Given the description of an element on the screen output the (x, y) to click on. 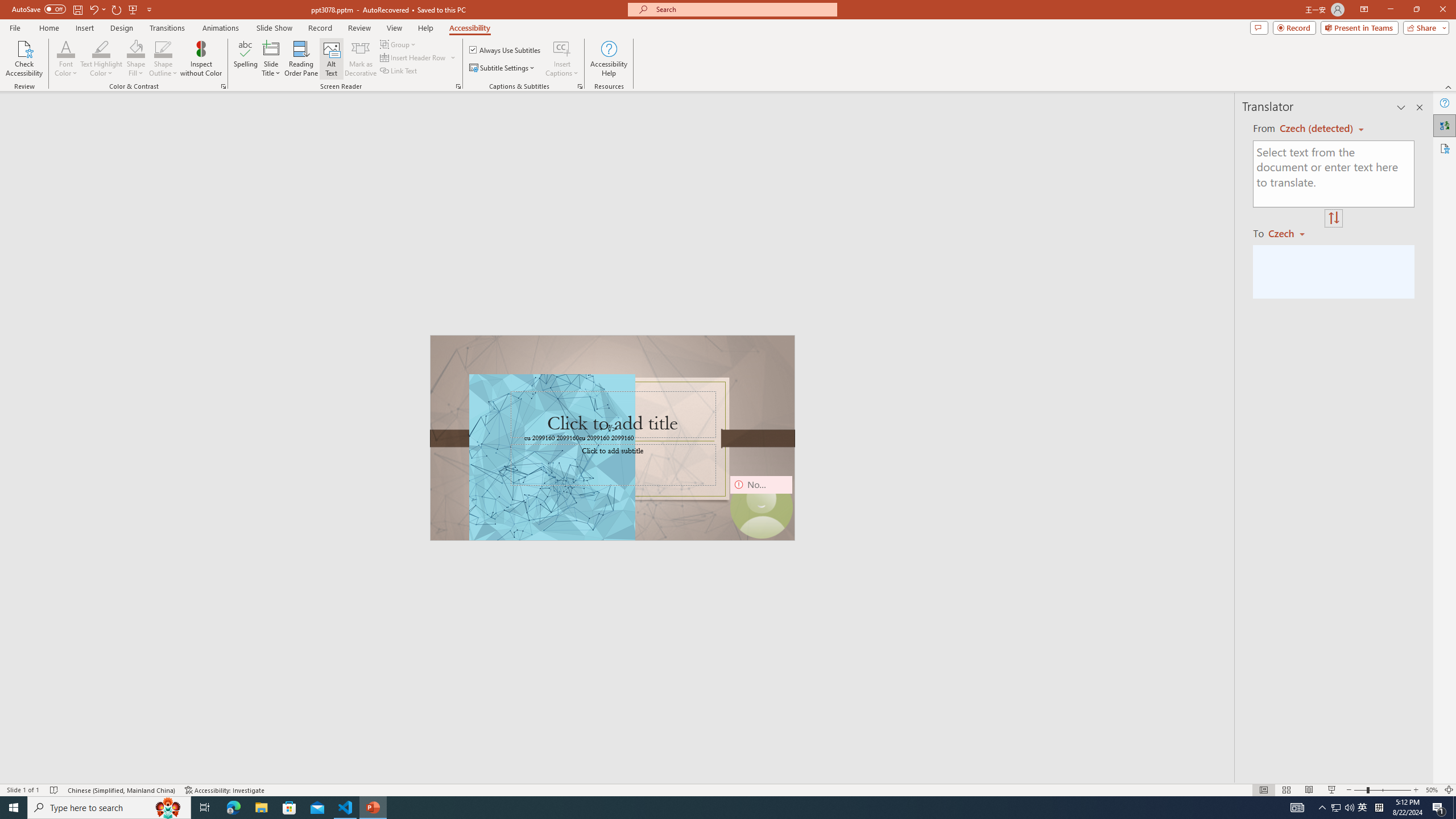
TextBox 61 (611, 438)
Czech (1291, 232)
